Given the description of an element on the screen output the (x, y) to click on. 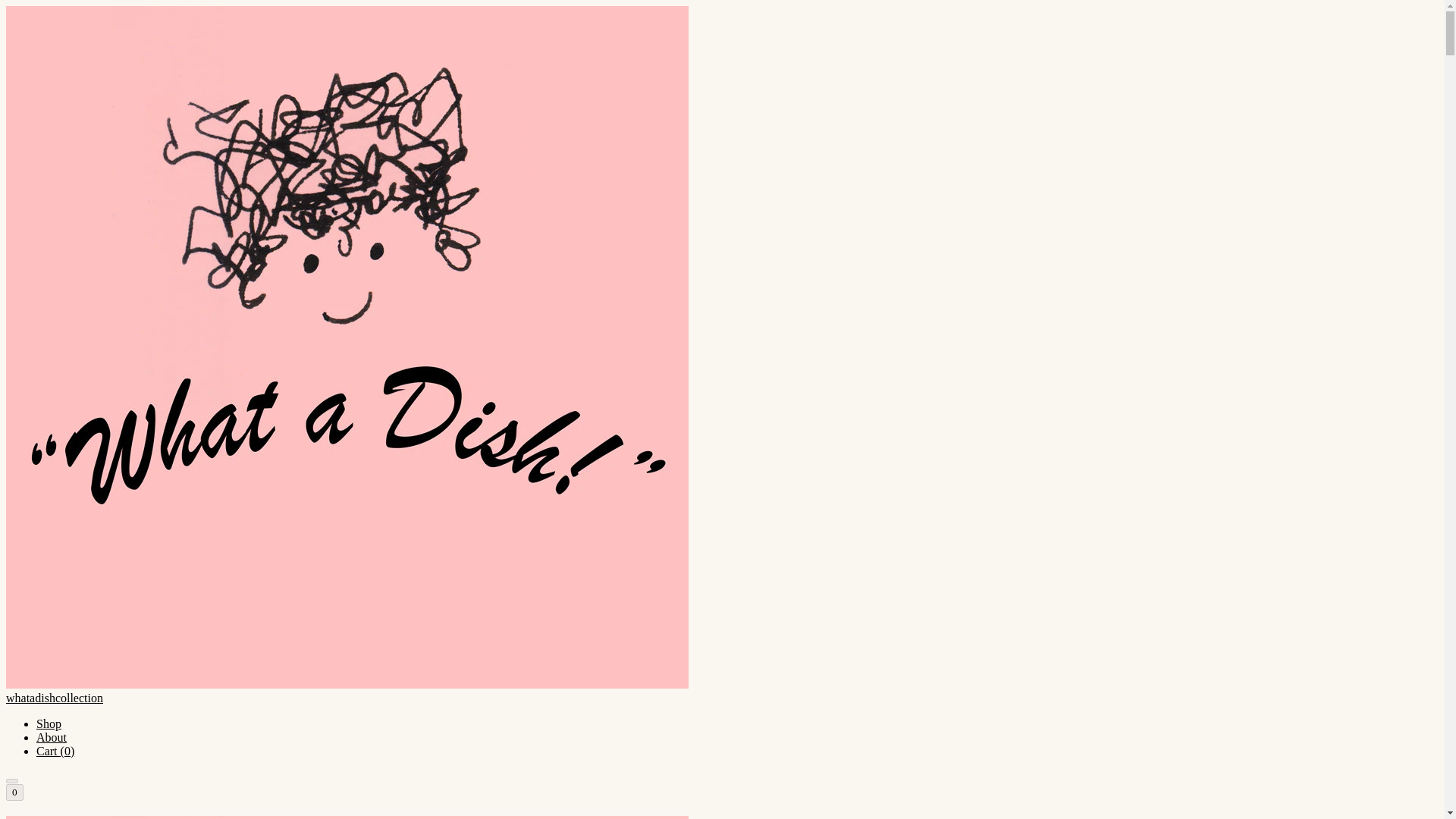
Shop (48, 723)
About (51, 737)
0 (14, 791)
